Given the description of an element on the screen output the (x, y) to click on. 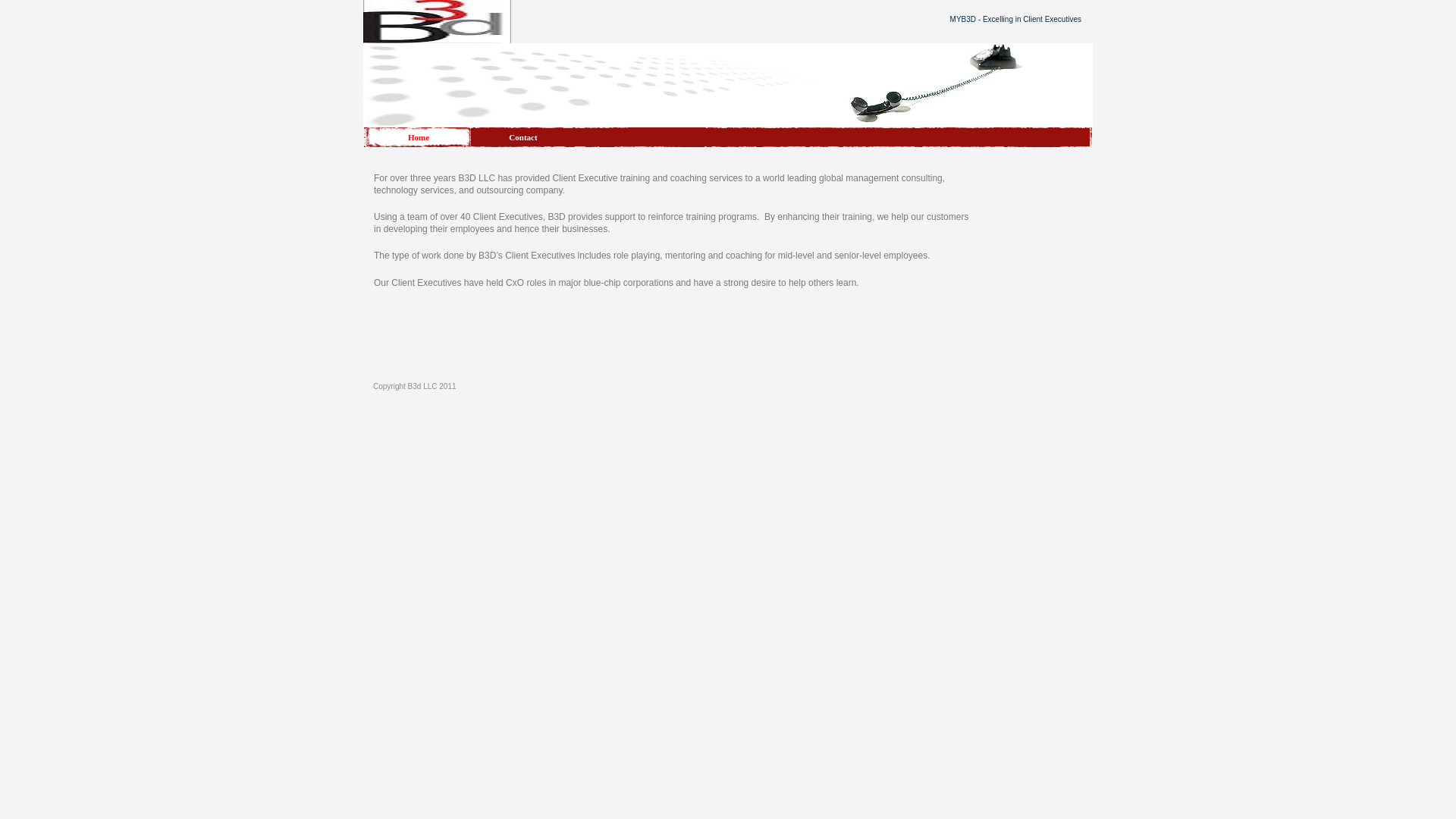
Home (418, 137)
Contact (522, 137)
